Given the description of an element on the screen output the (x, y) to click on. 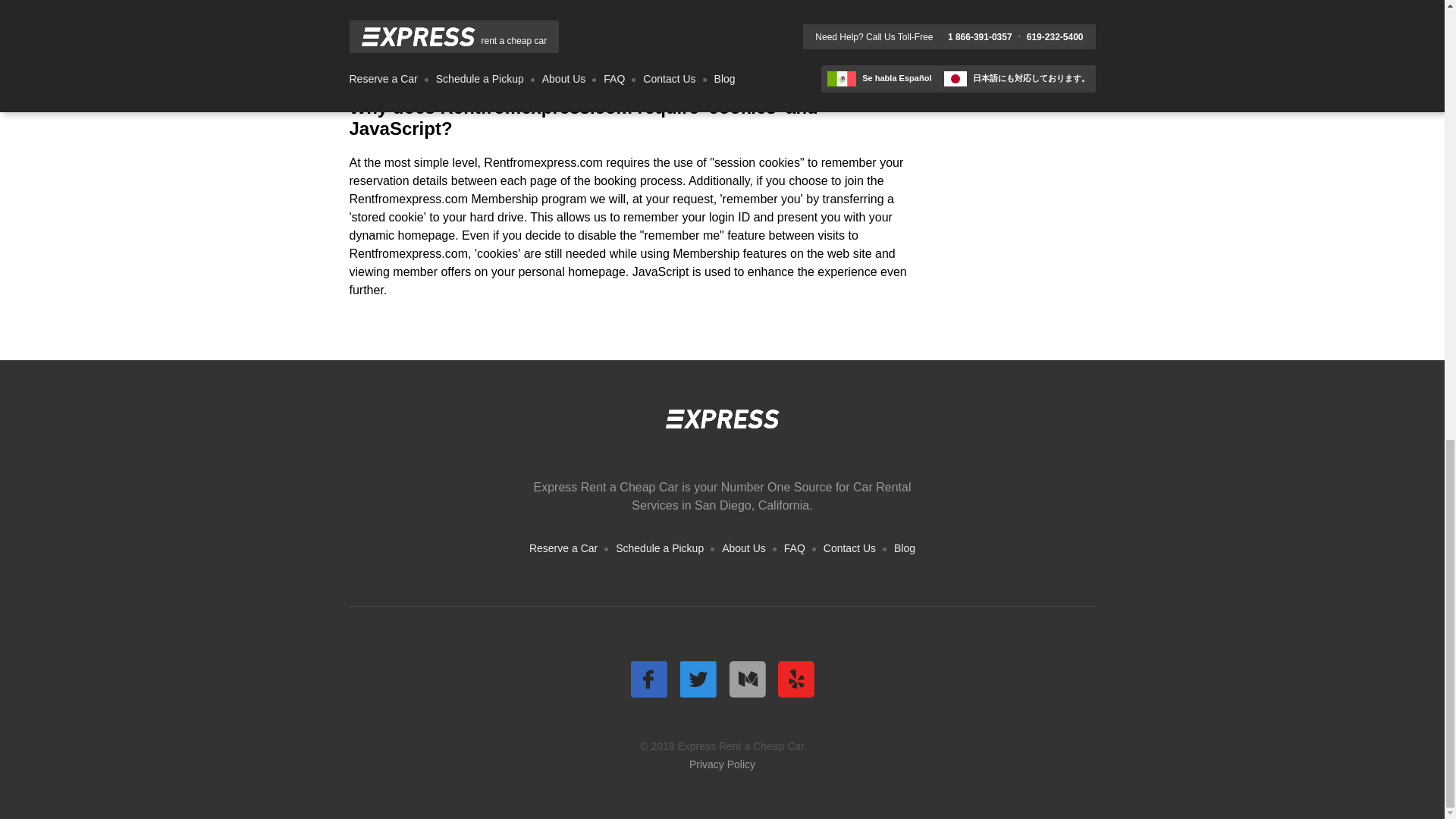
Facebook (648, 678)
Medium (746, 678)
About Us (743, 547)
Yelp (795, 678)
Privacy Policy (721, 764)
Schedule a Pickup (659, 547)
Reserve a Car (562, 547)
Twitter (697, 678)
Blog (904, 547)
Contact Us (850, 547)
FAQ (794, 547)
